Given the description of an element on the screen output the (x, y) to click on. 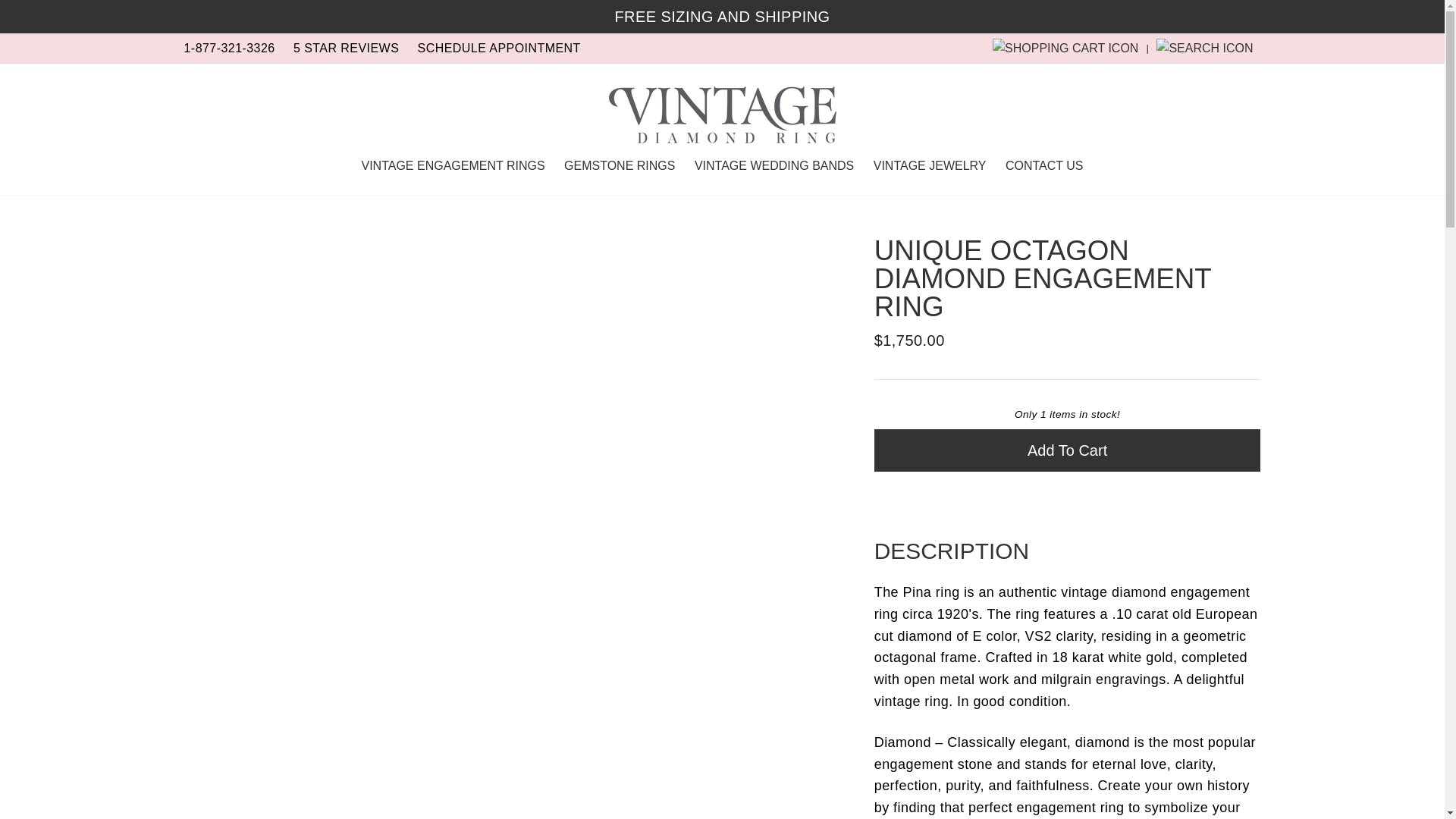
5 STAR REVIEWS (345, 48)
SCHEDULE APPOINTMENT (499, 48)
VINTAGE WEDDING BANDS (774, 165)
VINTAGE ENGAGEMENT RINGS (452, 165)
1-877-321-3326 (229, 48)
VINTAGE JEWELRY (930, 165)
GEMSTONE RINGS (619, 165)
